Given the description of an element on the screen output the (x, y) to click on. 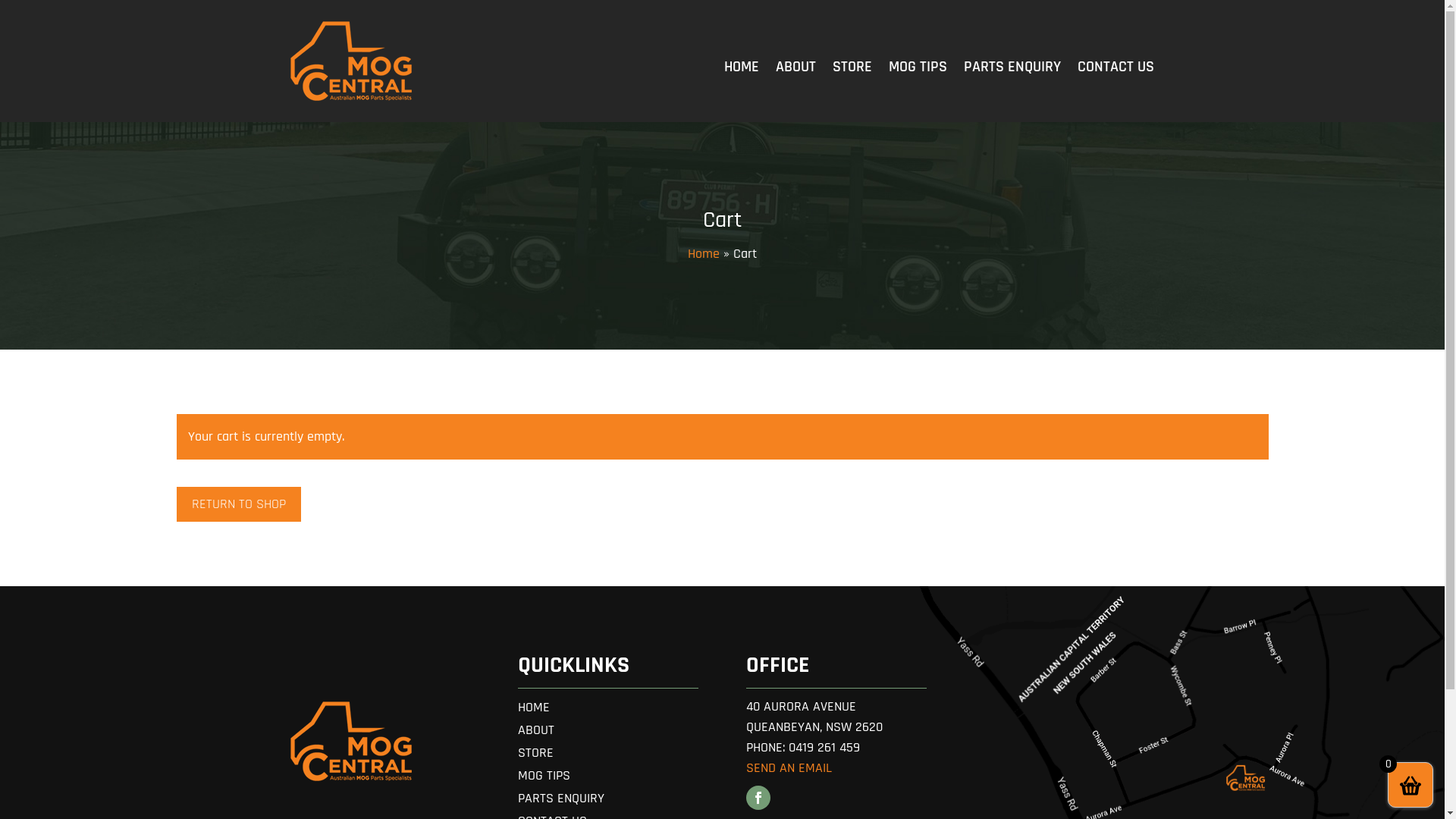
Follow on Facebook Element type: hover (758, 797)
HOME Element type: text (533, 710)
ABOUT Element type: text (535, 732)
HOME Element type: text (741, 69)
RETURN TO SHOP Element type: text (237, 503)
ABOUT Element type: text (795, 69)
MOG TIPS Element type: text (543, 778)
Home Element type: text (703, 253)
Mog Central Logo-2 Element type: hover (350, 741)
STORE Element type: text (852, 69)
CONTACT US Element type: text (1115, 69)
SEND AN EMAIL Element type: text (788, 767)
STORE Element type: text (535, 755)
PARTS ENQUIRY Element type: text (560, 801)
MOG TIPS Element type: text (917, 69)
PARTS ENQUIRY Element type: text (1011, 69)
